Given the description of an element on the screen output the (x, y) to click on. 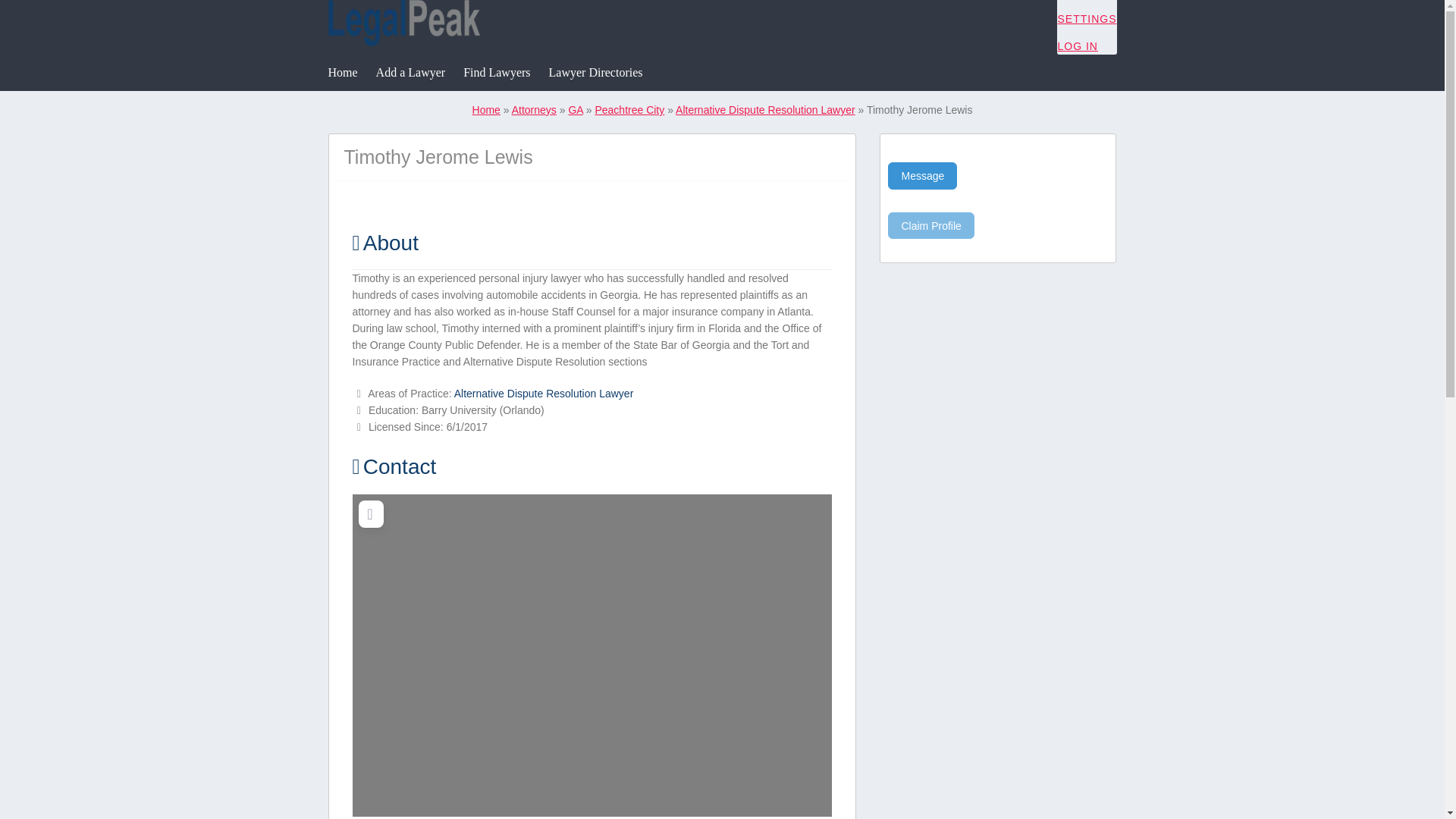
Find Lawyers (496, 72)
Home (485, 110)
Peachtree City (628, 110)
Attorneys (534, 110)
Contact (393, 466)
Lawyer Directories (596, 72)
SETTINGS (1086, 19)
Message (922, 176)
LOG IN (1077, 46)
Alternative Dispute Resolution Lawyer (765, 110)
